Given the description of an element on the screen output the (x, y) to click on. 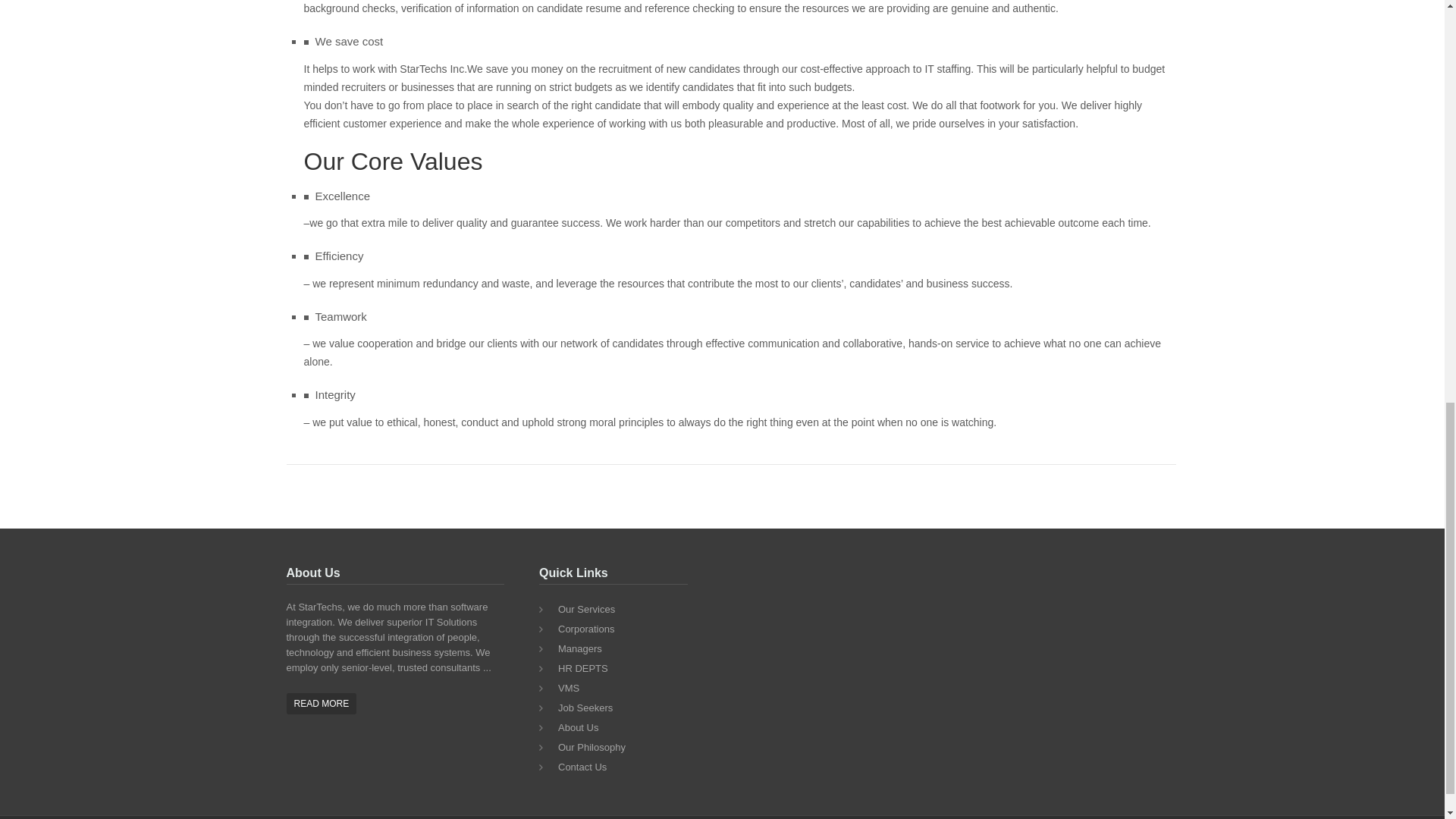
Contact Us (622, 767)
READ MORE (321, 703)
HR DEPTS (622, 668)
Job Seekers (622, 708)
Our Philosophy (622, 747)
Corporations (622, 629)
VMS (622, 688)
Managers (622, 649)
Our Services (622, 609)
About Us (622, 727)
